Given the description of an element on the screen output the (x, y) to click on. 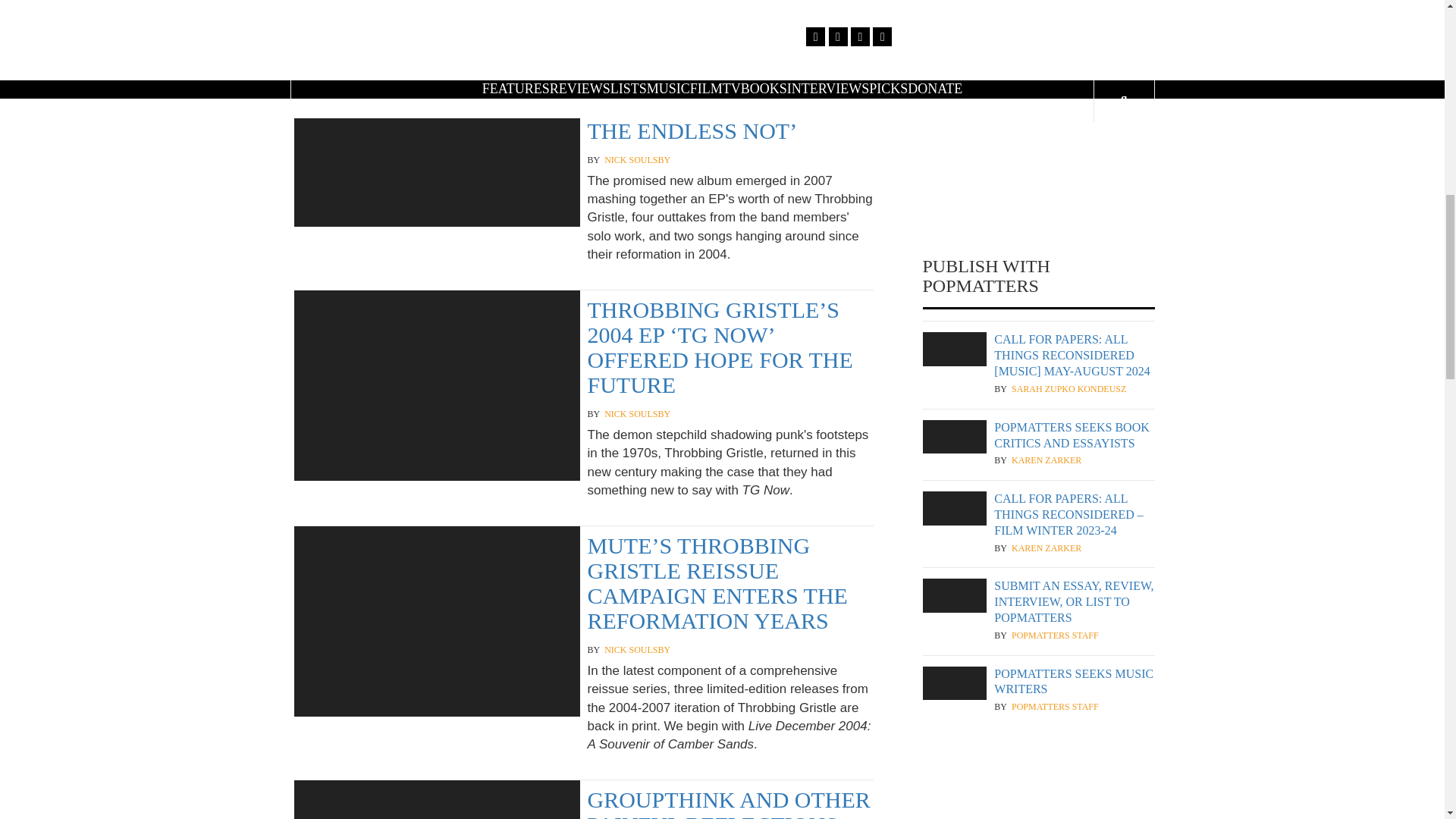
Nick Soulsby (636, 160)
Nick Soulsby (636, 649)
Nick Soulsby (636, 413)
